Given the description of an element on the screen output the (x, y) to click on. 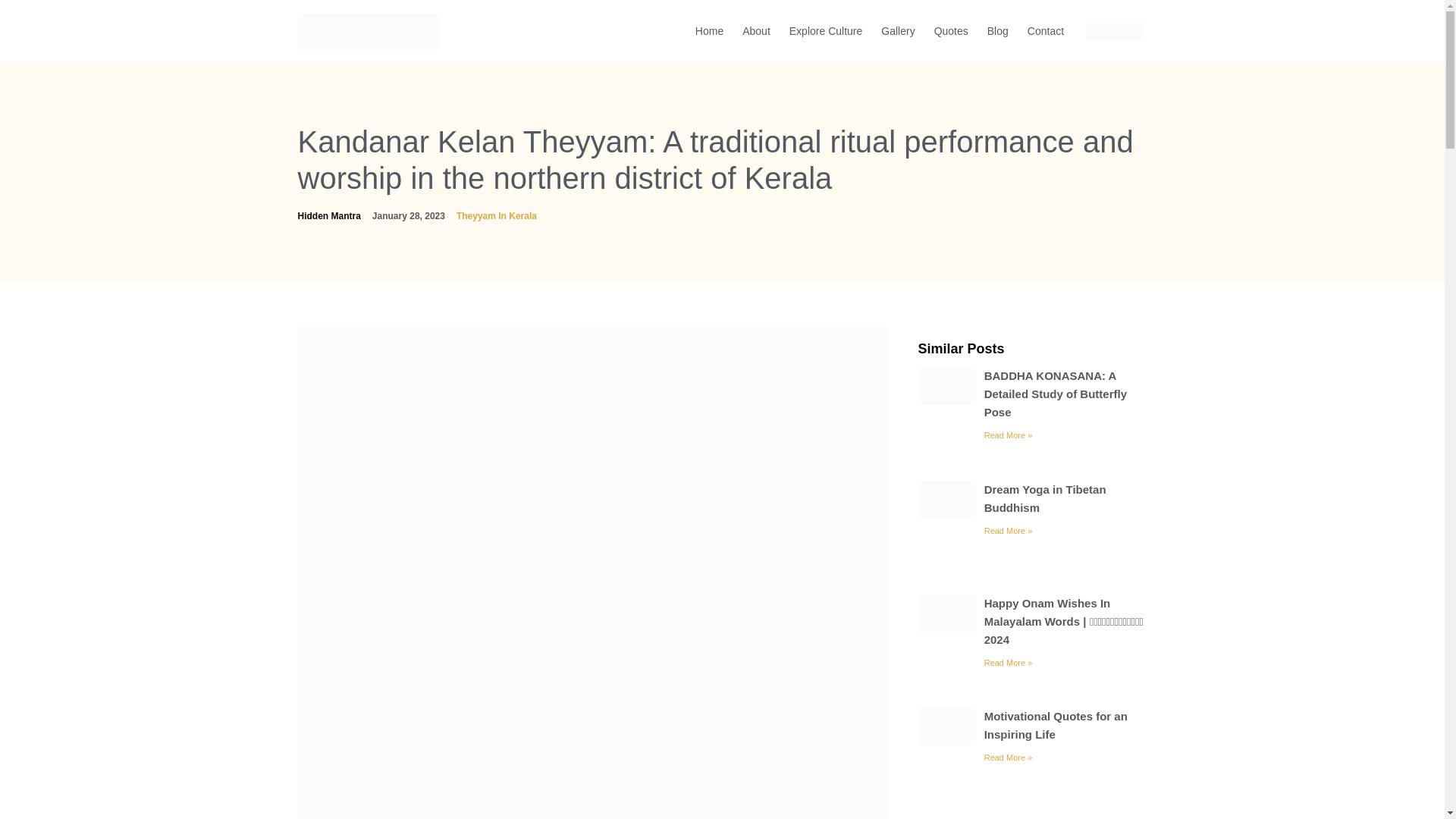
Home (708, 30)
Contact (1045, 30)
Quotes (951, 30)
Theyyam In Kerala (497, 215)
Explore Culture (826, 30)
Hidden Mantra (328, 215)
About (756, 30)
Gallery (897, 30)
